Given the description of an element on the screen output the (x, y) to click on. 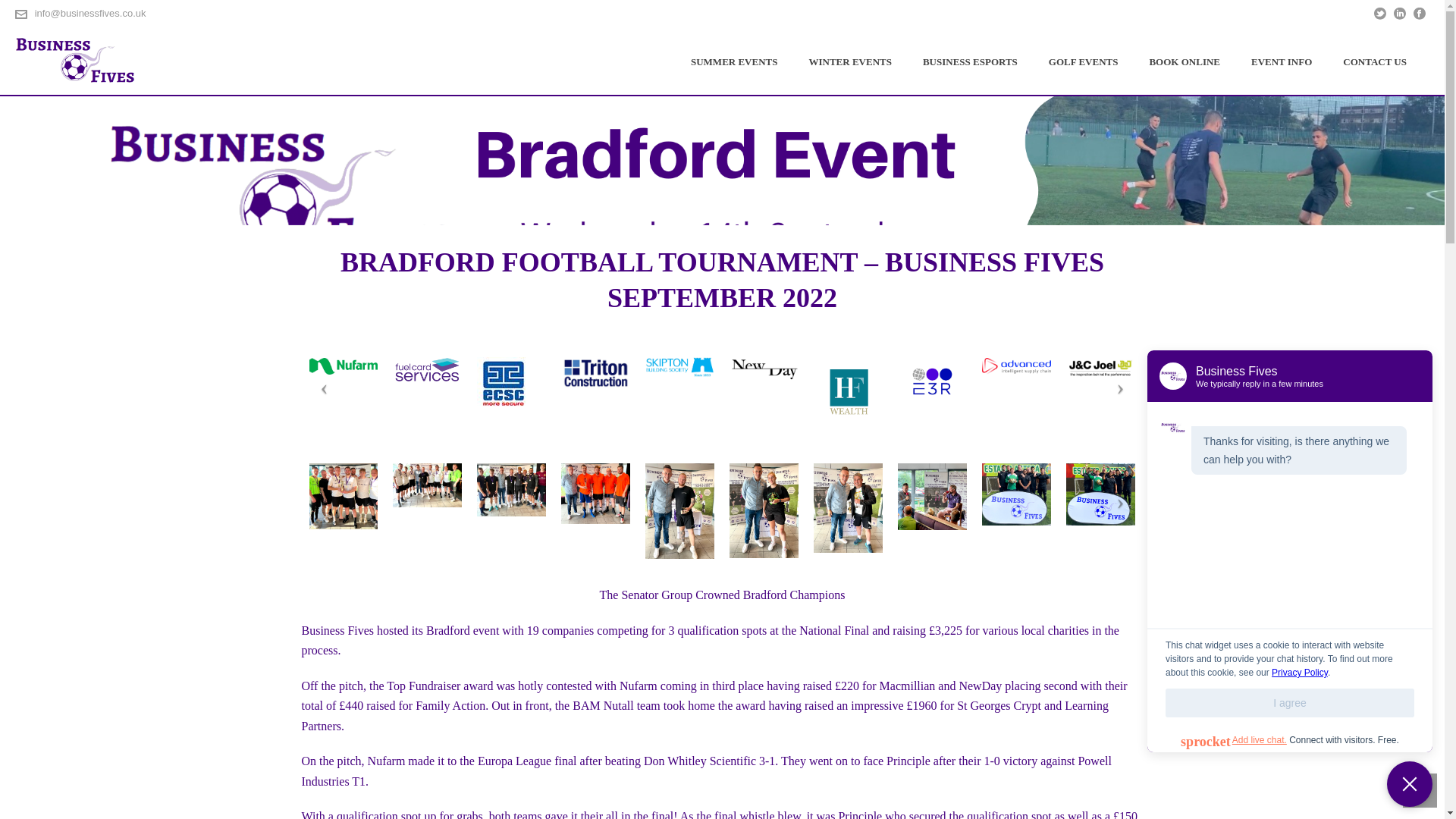
WINTER EVENTS (849, 60)
EVENT INFO (1281, 60)
WINTER EVENTS (849, 60)
BOOK ONLINE (1184, 60)
Corporate Football Events (75, 60)
SUMMER EVENTS (734, 60)
GOLF EVENTS (1083, 60)
BUSINESS ESPORTS (969, 60)
SUMMER EVENTS (734, 60)
CONTACT US (1374, 60)
